Given the description of an element on the screen output the (x, y) to click on. 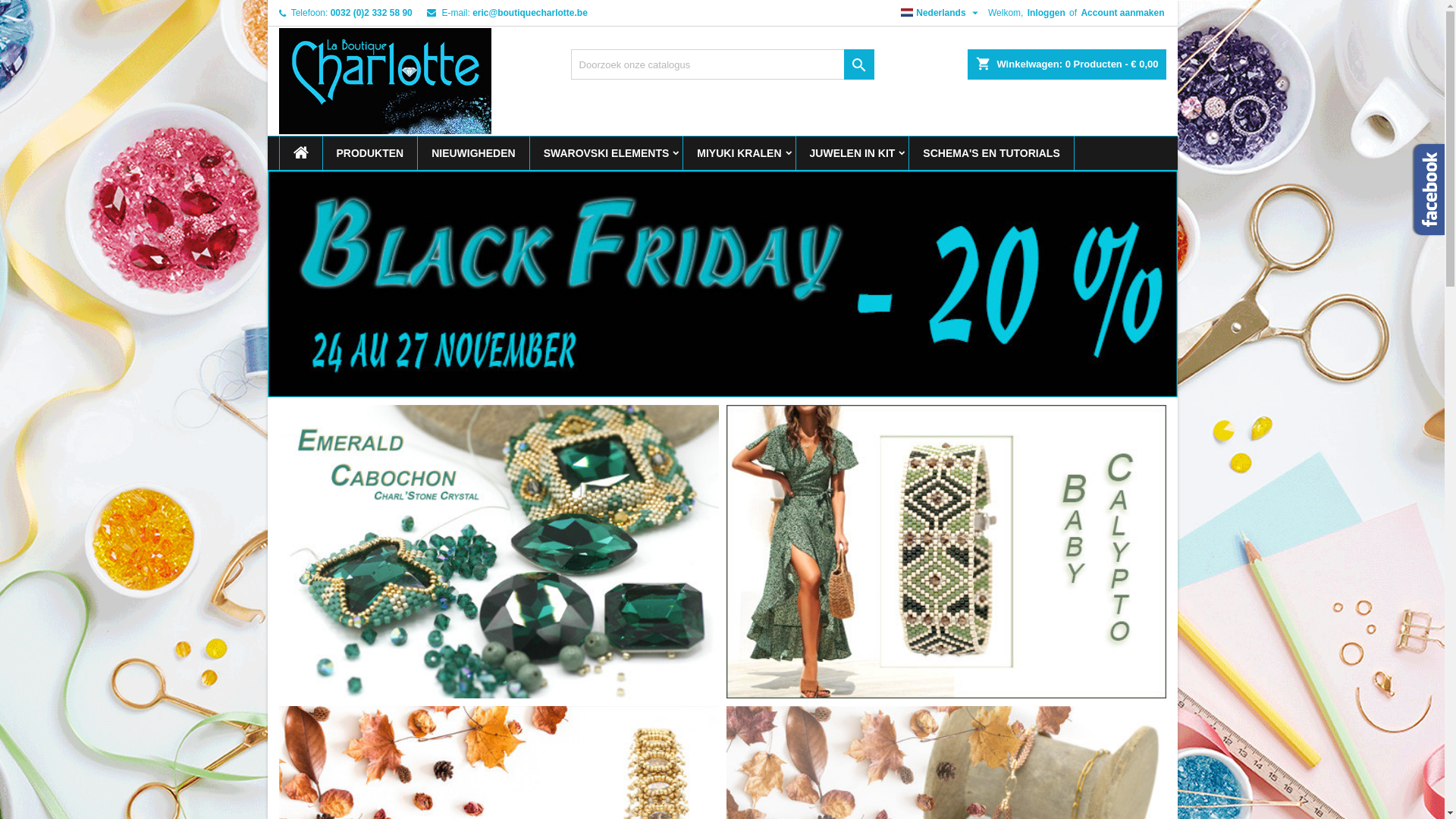
NIEUWIGHEDEN Element type: text (472, 152)
Cabochon Charl'stone Crystal Element type: hover (498, 550)
SWAROVSKI ELEMENTS Element type: text (606, 152)
Account aanmaken Element type: text (1122, 12)
PRODUKTEN Element type: text (370, 152)
eric@boutiquecharlotte.be Element type: text (529, 12)
Black Friday Element type: hover (721, 283)
Inloggen Element type: text (1046, 12)
Cabochon Charl'stone Crystal Element type: hover (498, 551)
MIYUKI KRALEN Element type: text (738, 152)
SCHEMA'S EN TUTORIALS Element type: text (991, 152)
Armband Calypto Baby Element type: hover (946, 550)
JUWELEN IN KIT Element type: text (852, 152)
Armband Calypto Baby Element type: hover (946, 551)
